Given the description of an element on the screen output the (x, y) to click on. 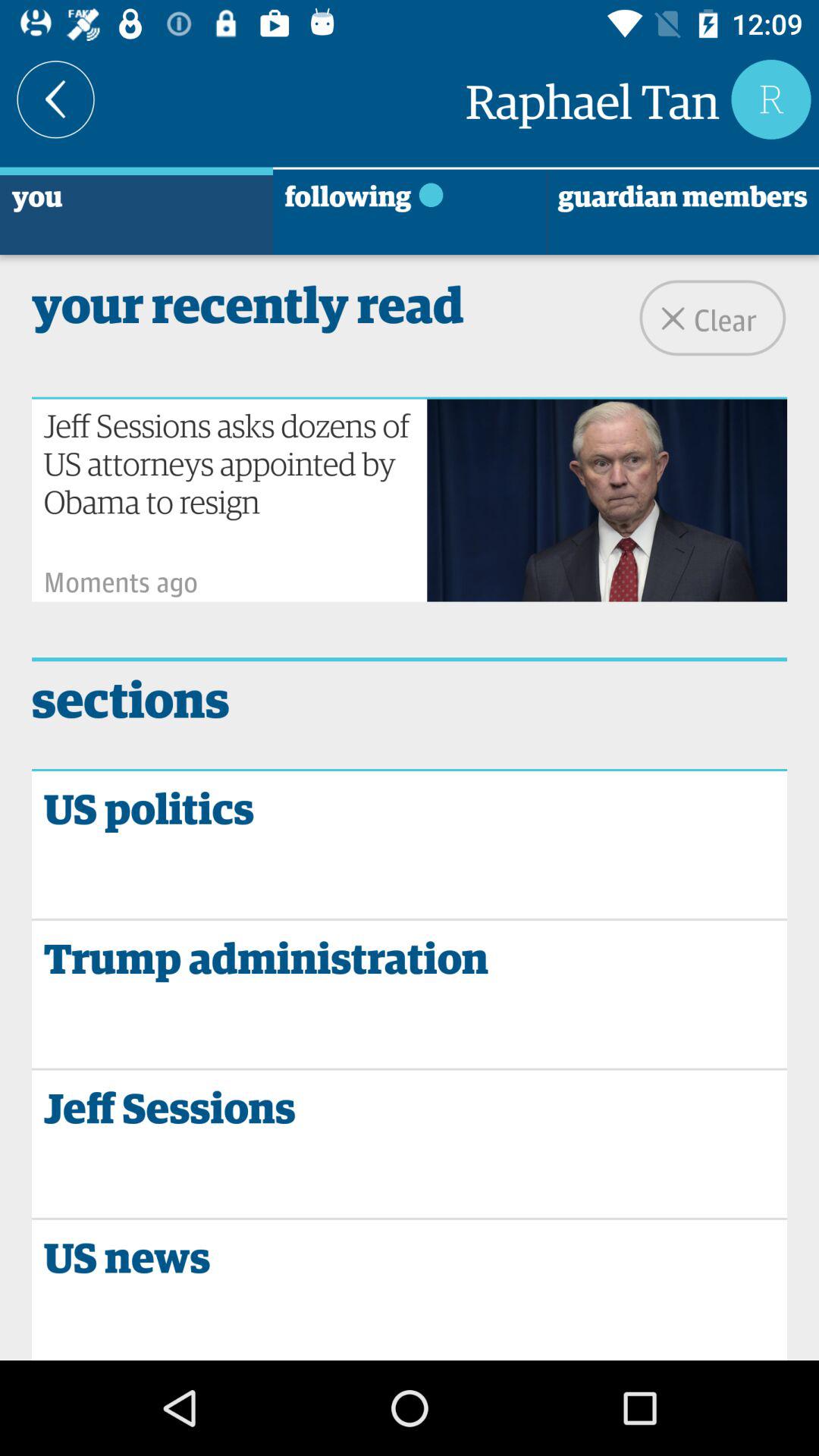
swipe to the raphael tan item (592, 99)
